Given the description of an element on the screen output the (x, y) to click on. 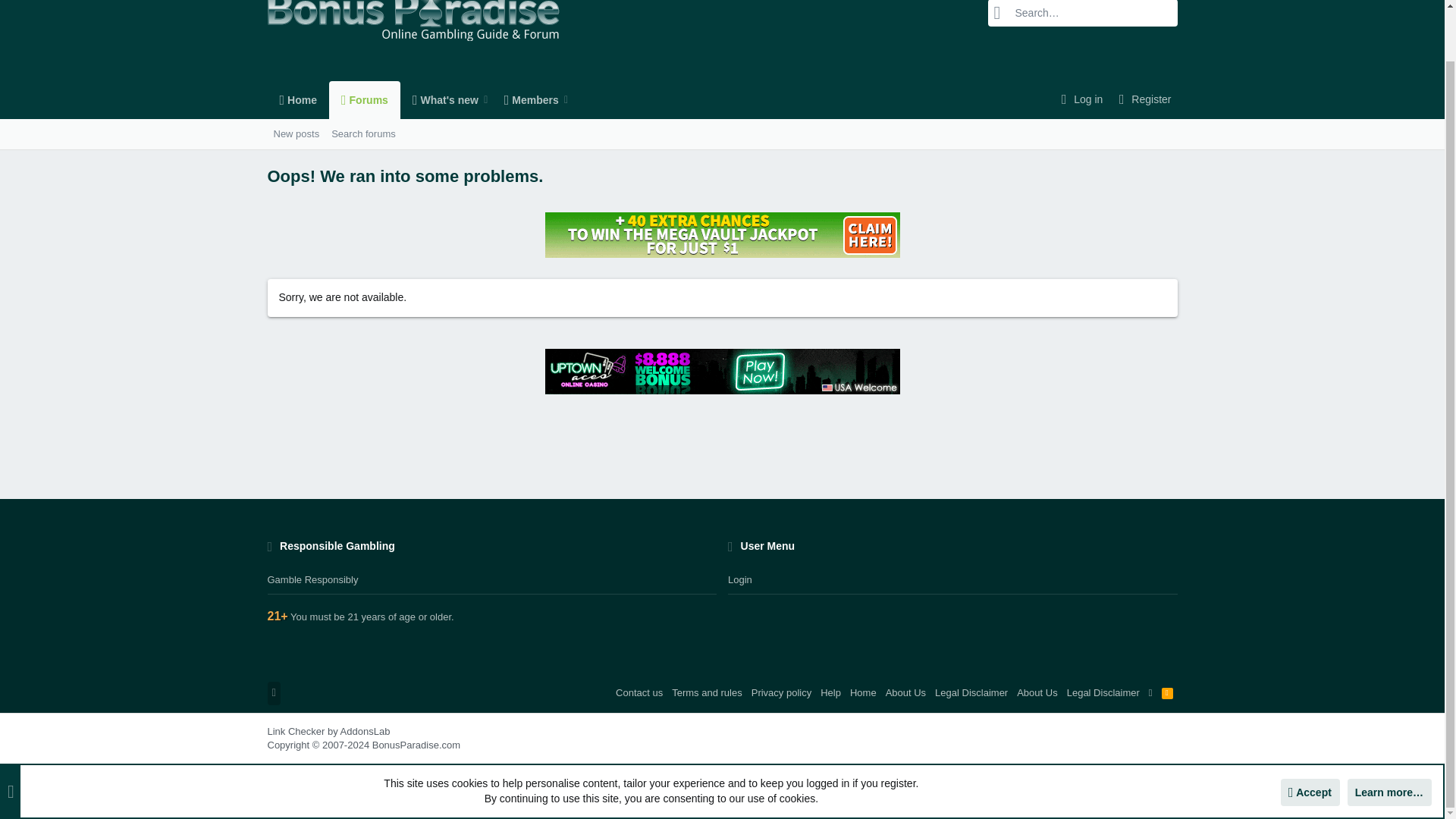
What's new (333, 133)
Register (419, 99)
RSS (440, 99)
Search forums (1142, 99)
Members (1167, 692)
New posts (362, 134)
Forums (526, 99)
